Given the description of an element on the screen output the (x, y) to click on. 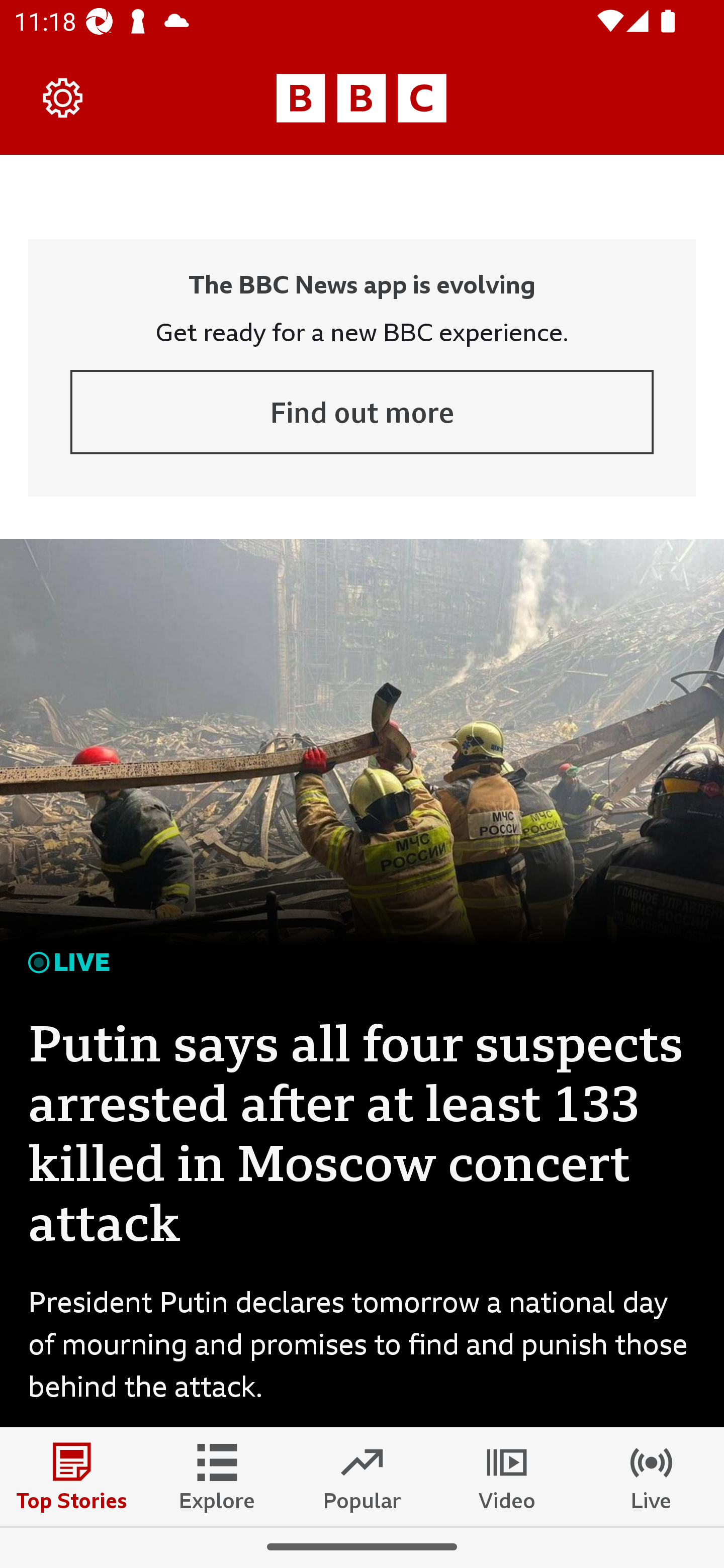
Settings (63, 97)
Find out more (361, 412)
Explore (216, 1475)
Popular (361, 1475)
Video (506, 1475)
Live (651, 1475)
